Given the description of an element on the screen output the (x, y) to click on. 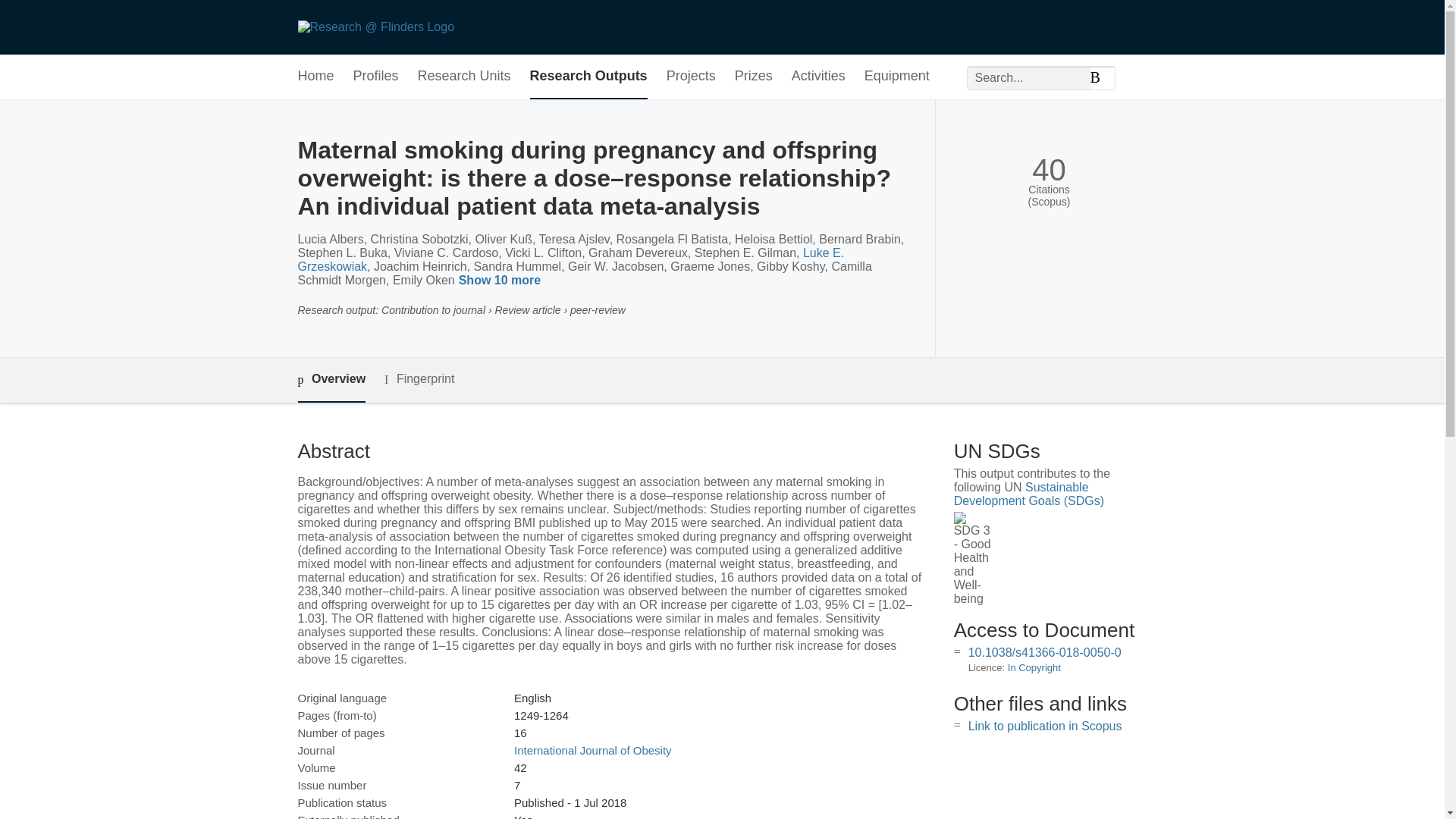
Luke E. Grzeskowiak (570, 259)
Link to publication in Scopus (1045, 725)
Profiles (375, 76)
Fingerprint (419, 379)
Research Units (464, 76)
Projects (691, 76)
Overview (331, 379)
Activities (818, 76)
Prizes (754, 76)
SDG 3 - Good Health and Well-being (972, 558)
In Copyright (1034, 667)
Show 10 more (502, 281)
Home (315, 76)
Research Outputs (588, 76)
